Given the description of an element on the screen output the (x, y) to click on. 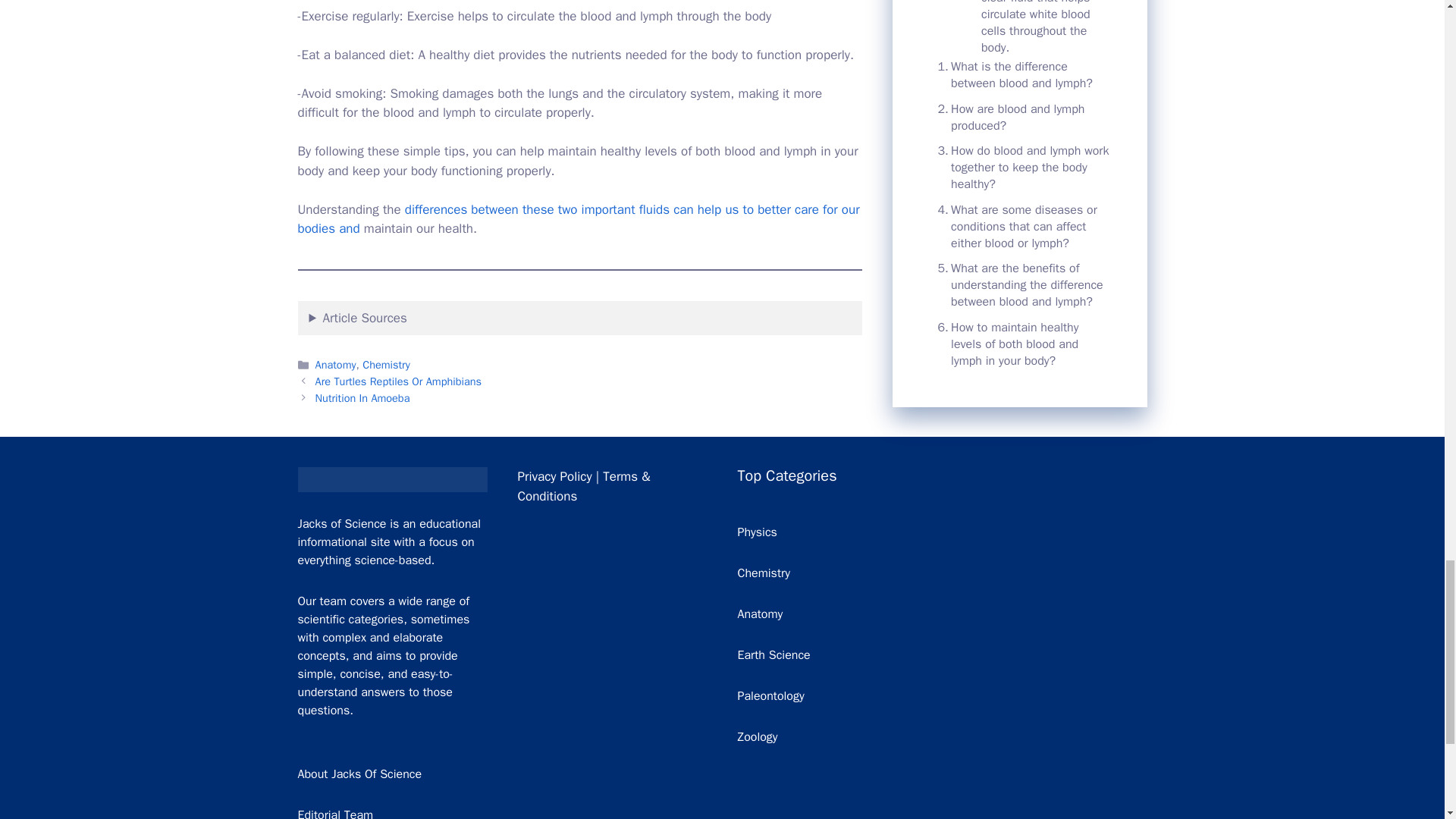
Chemistry (386, 364)
Anatomy (335, 364)
Nutrition In Amoeba (362, 397)
Are Turtles Reptiles Or Amphibians (398, 381)
